Given the description of an element on the screen output the (x, y) to click on. 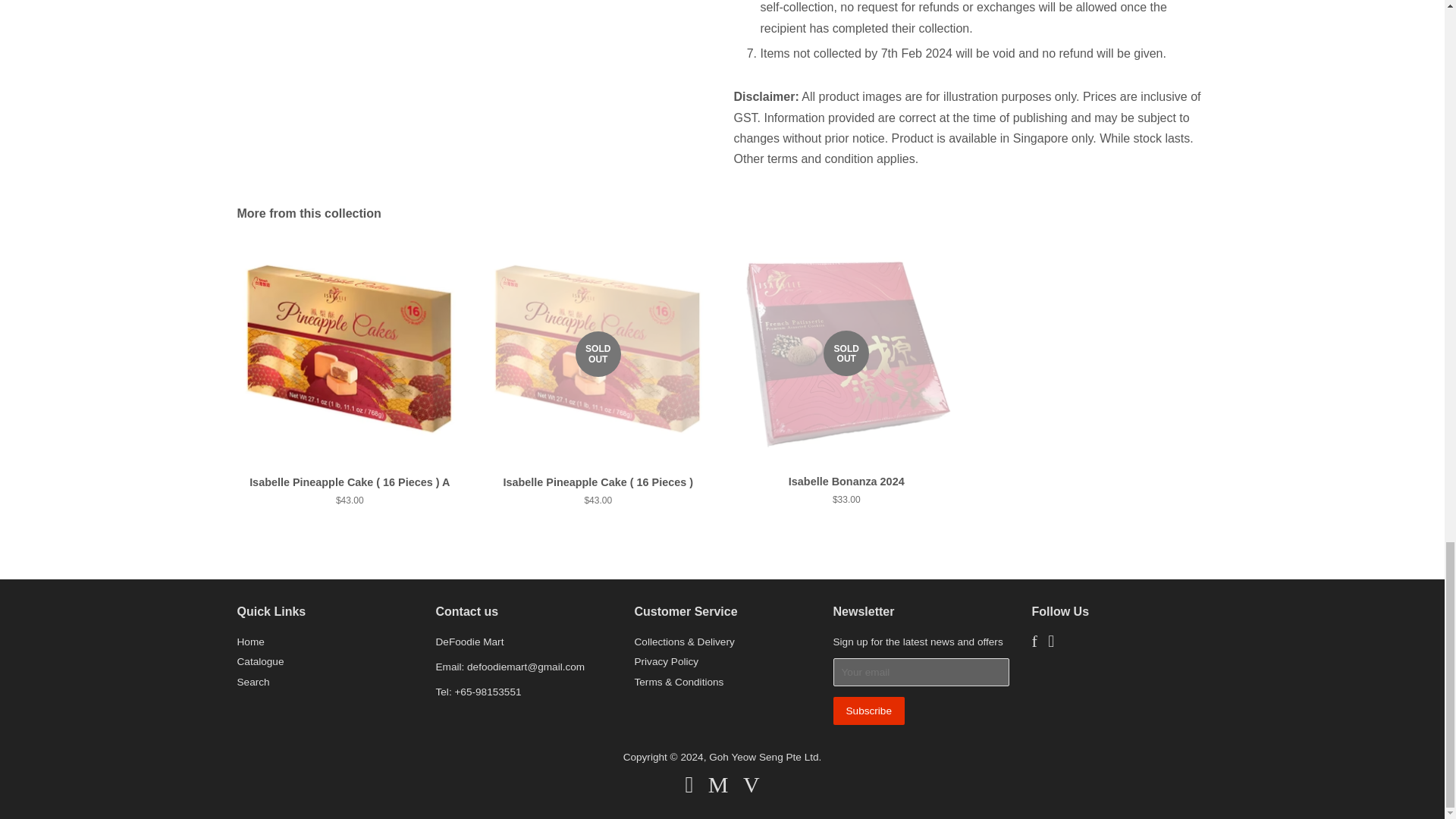
Catalogue (259, 661)
Privacy Policy (665, 661)
Subscribe (868, 710)
Search (252, 681)
Goh Yeow Seng Pte Ltd (763, 756)
Subscribe (868, 710)
Home (249, 641)
